Given the description of an element on the screen output the (x, y) to click on. 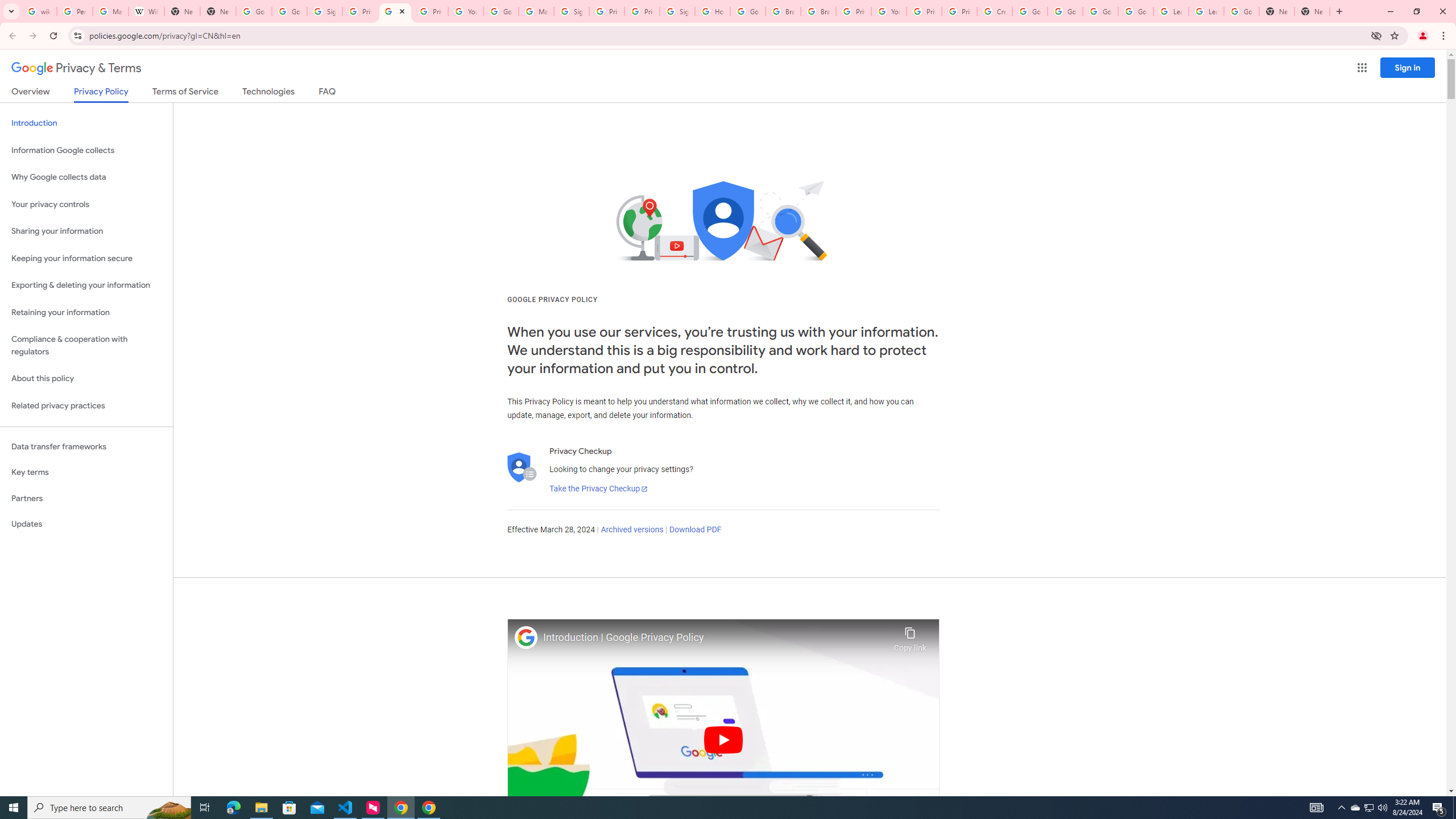
YouTube (888, 11)
Google Drive: Sign-in (288, 11)
Take the Privacy Checkup (597, 488)
